Given the description of an element on the screen output the (x, y) to click on. 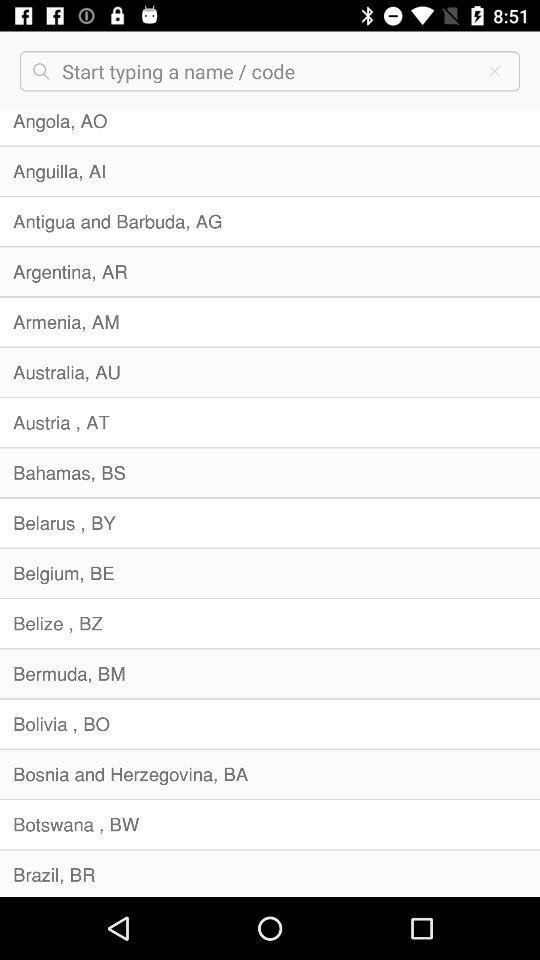
tap the bermuda, bm icon (270, 673)
